Given the description of an element on the screen output the (x, y) to click on. 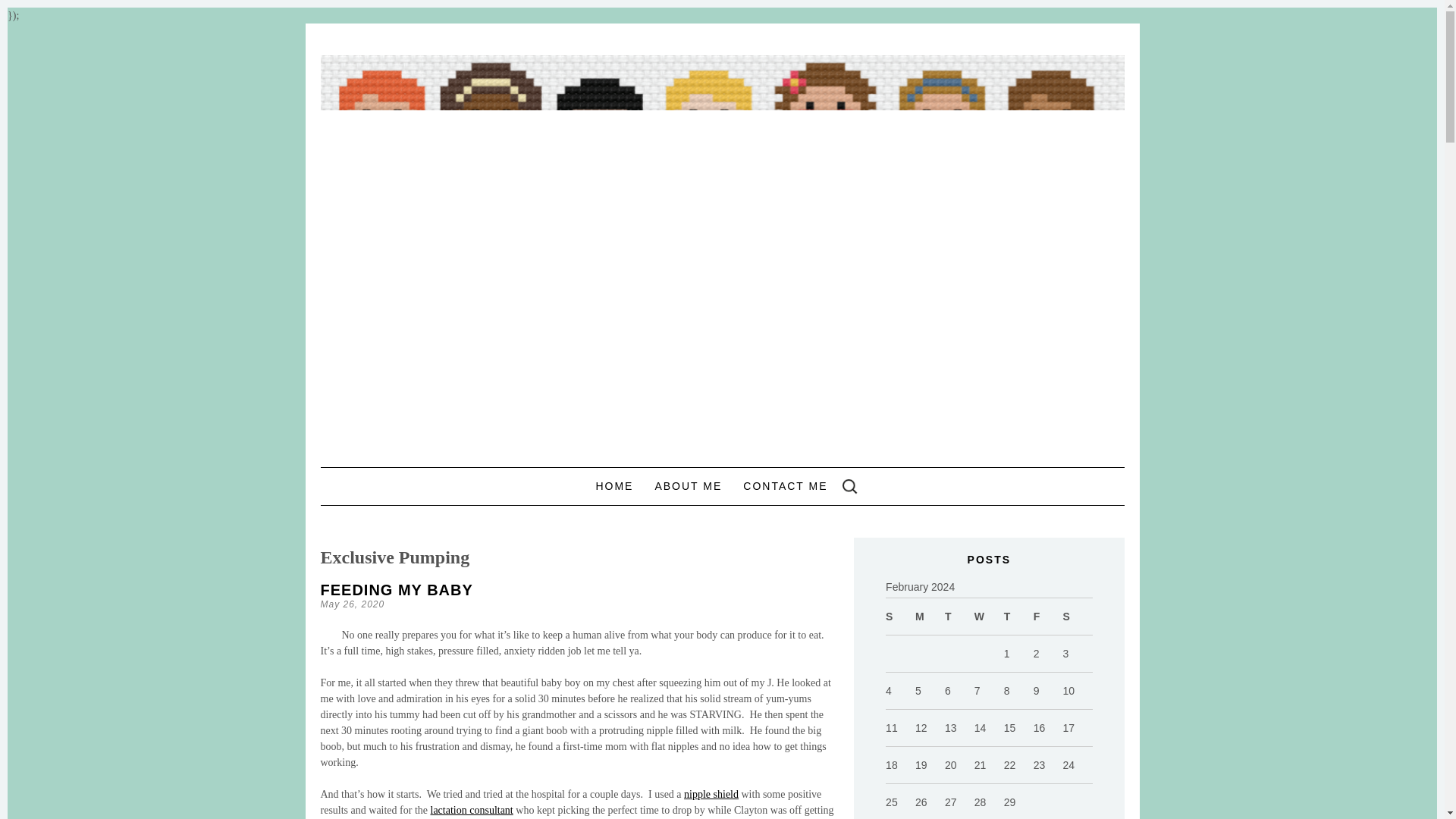
The Bandwagon Girl (524, 97)
lactation consultant (471, 809)
FEEDING MY BABY (395, 589)
May 26, 2020 (352, 603)
ABOUT ME (687, 485)
CONTACT ME (784, 485)
nipple shield (711, 794)
Search (26, 11)
HOME (614, 485)
